Given the description of an element on the screen output the (x, y) to click on. 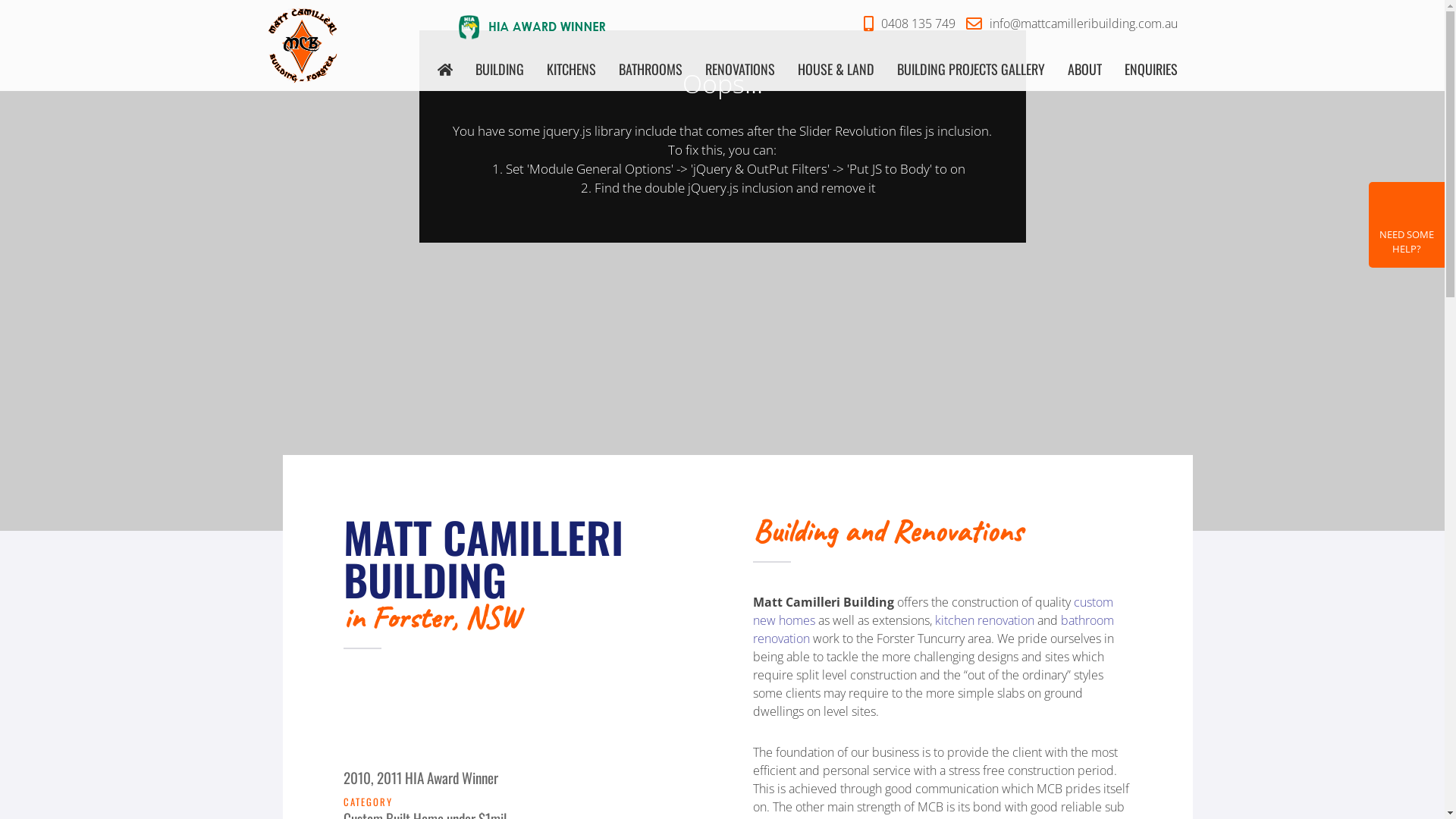
NEED SOME HELP? Element type: text (1406, 224)
BUILDING PROJECTS GALLERY Element type: text (970, 68)
BATHROOMS Element type: text (650, 68)
kitchen renovation Element type: text (984, 619)
bathroom renovation Element type: text (933, 628)
ENQUIRIES Element type: text (1149, 68)
custom new homes Element type: text (933, 610)
BUILDING Element type: text (498, 68)
RENOVATIONS Element type: text (740, 68)
KITCHENS Element type: text (570, 68)
info@mattcamilleribuilding.com.au Element type: text (1067, 23)
HOUSE & LAND Element type: text (835, 68)
0408 135 749 Element type: text (904, 23)
ABOUT Element type: text (1084, 68)
